Given the description of an element on the screen output the (x, y) to click on. 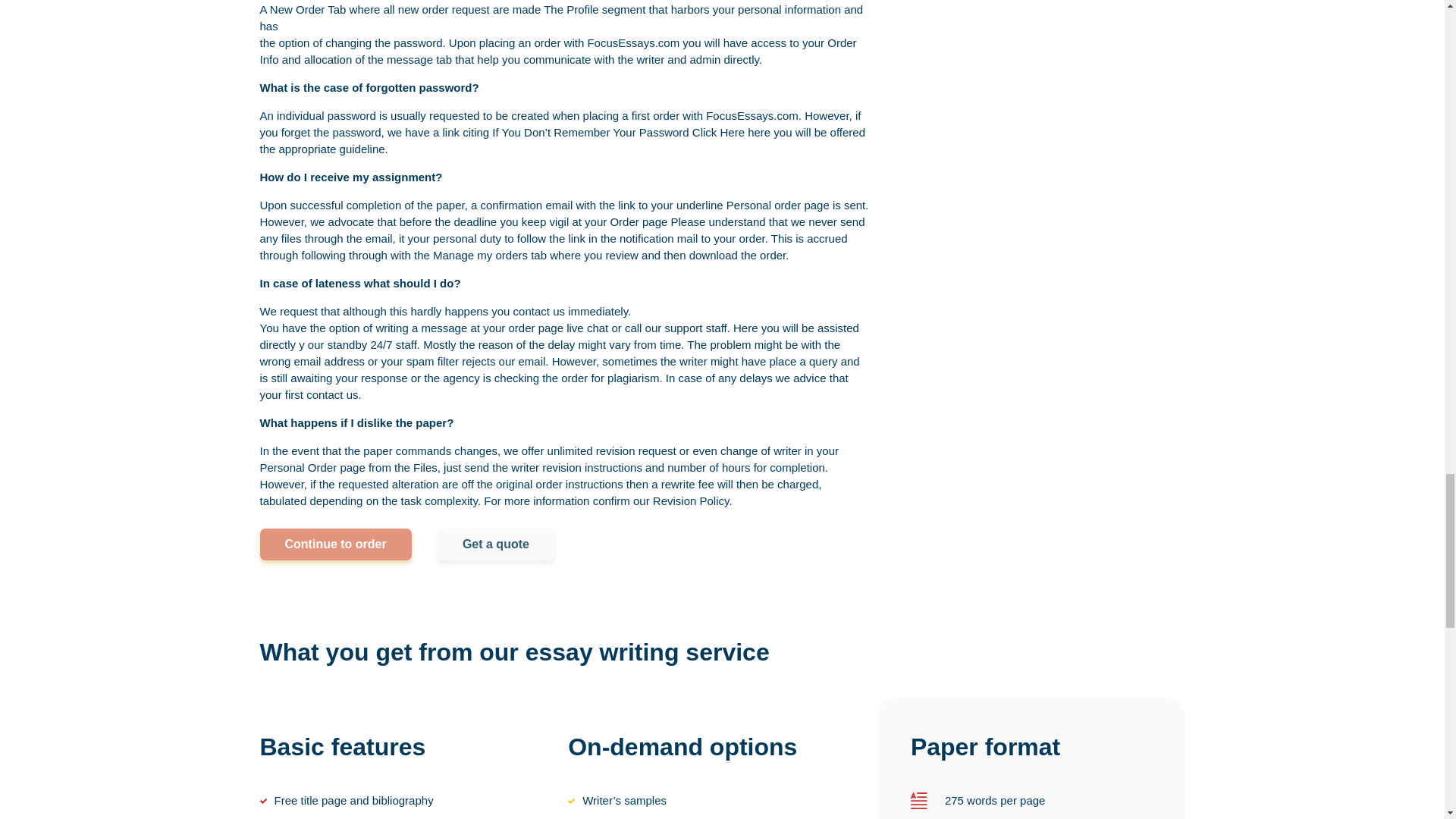
Continue to order (334, 544)
Get a quote (496, 544)
